Given the description of an element on the screen output the (x, y) to click on. 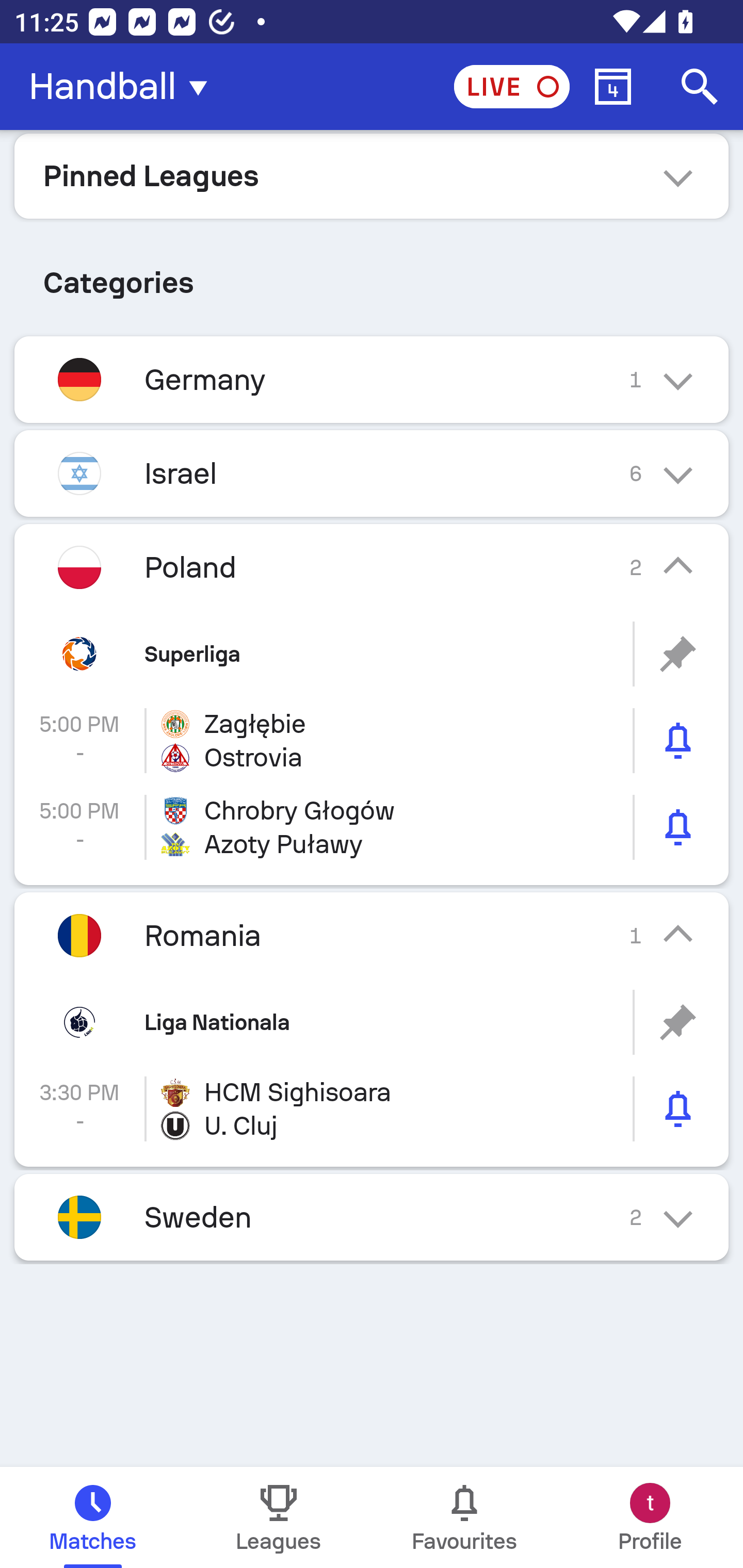
Handball (124, 86)
Calendar (612, 86)
Search (699, 86)
Pinned Leagues (371, 175)
Categories (371, 275)
Germany 1 (371, 379)
Israel 6 (371, 473)
Poland 2 (371, 566)
Superliga (371, 653)
5:00 PM - Zagłębie Ostrovia (371, 740)
5:00 PM - Chrobry Głogów Azoty Puławy (371, 827)
Romania 1 (371, 935)
Liga Nationala (371, 1022)
3:30 PM - HCM Sighisoara U. Cluj (371, 1109)
Sweden 2 (371, 1217)
Leagues (278, 1517)
Favourites (464, 1517)
Profile (650, 1517)
